Given the description of an element on the screen output the (x, y) to click on. 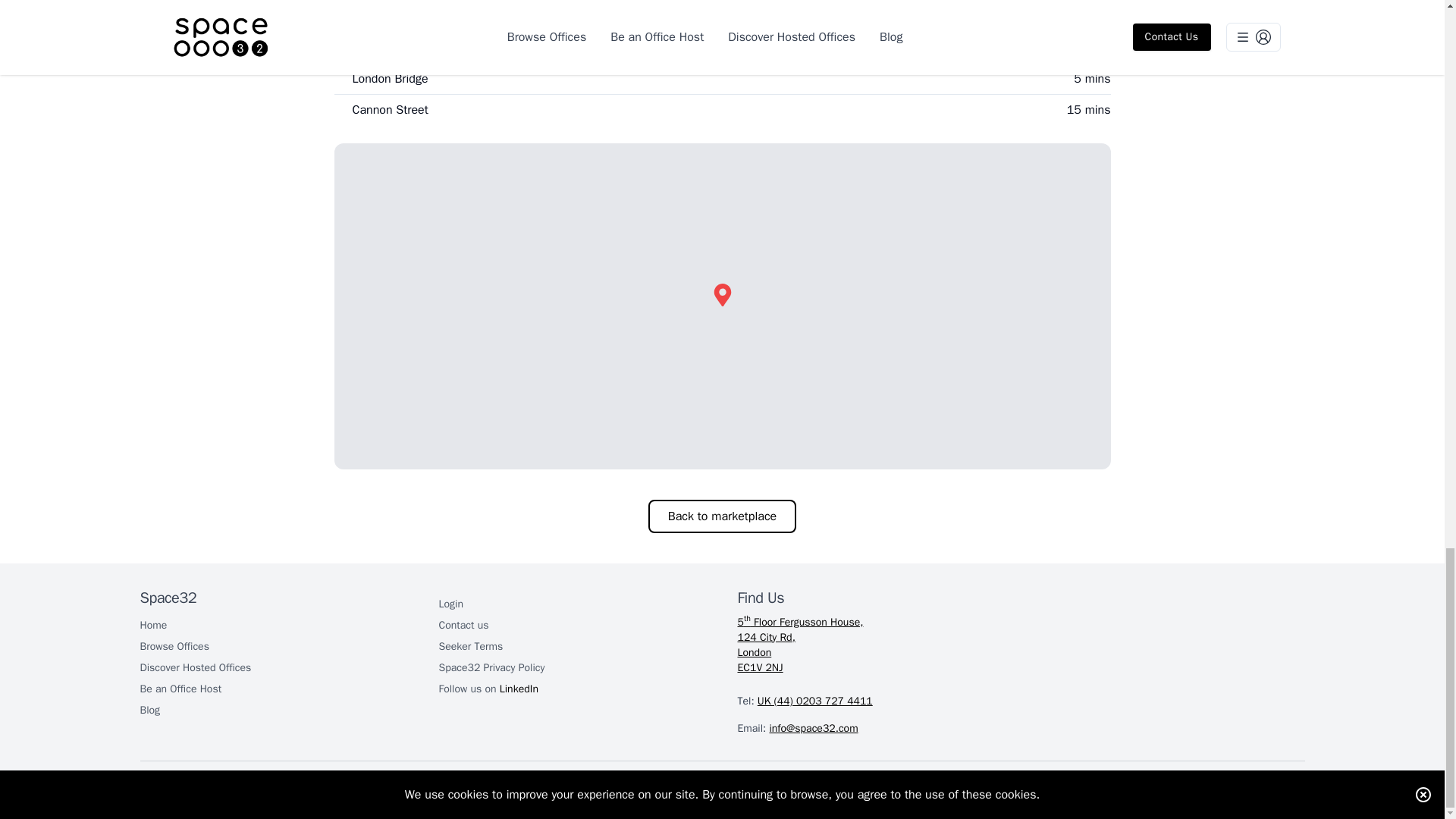
Blog (149, 708)
Browse Offices (173, 645)
Login (450, 603)
Discover Hosted Offices (194, 666)
Back to marketplace (721, 516)
Be an Office Host (180, 687)
Space32 Privacy Policy (491, 666)
Follow us on LinkedIn (1020, 645)
Seeker Terms (487, 687)
Home (470, 645)
